Given the description of an element on the screen output the (x, y) to click on. 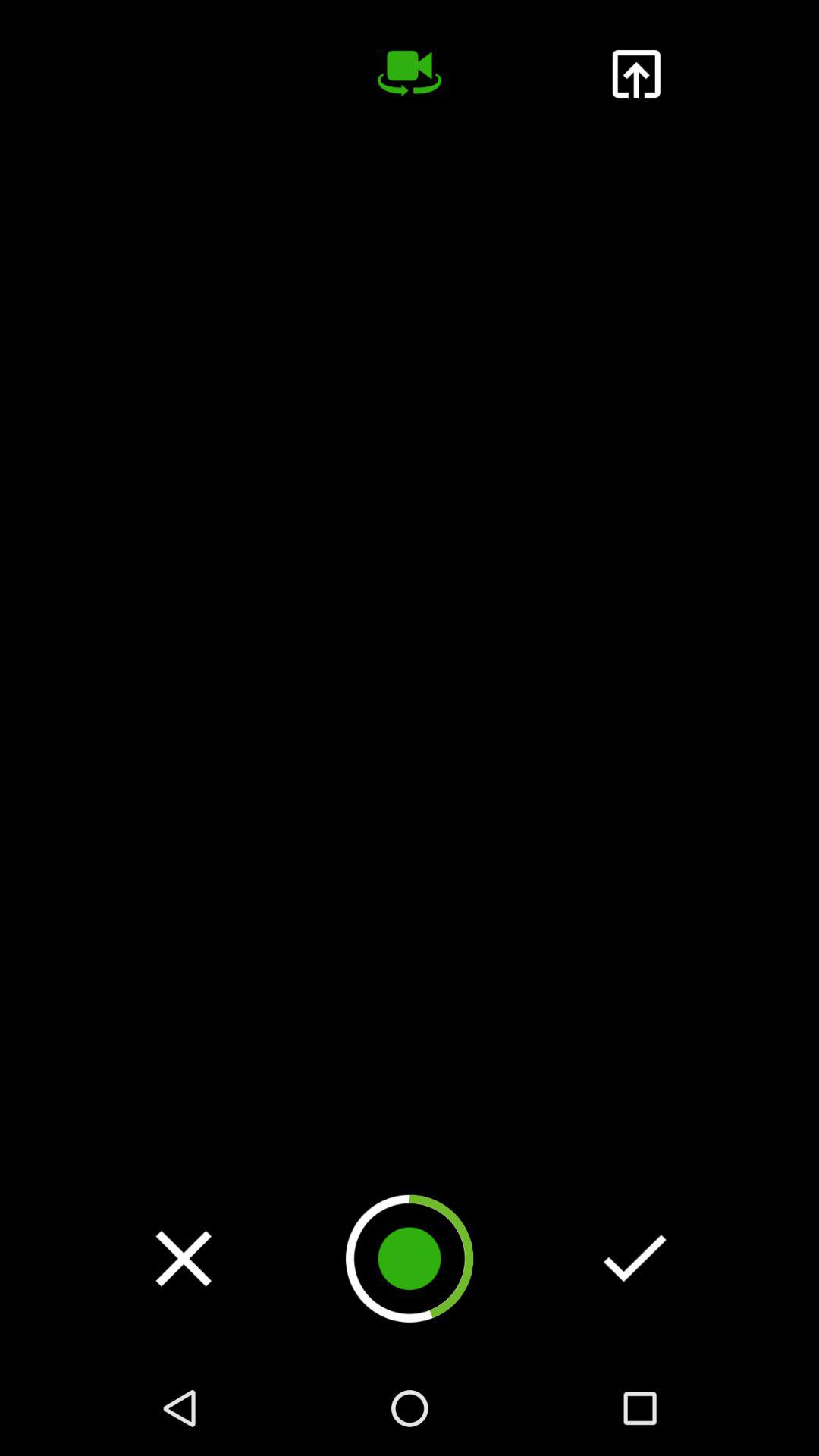
rotate camera (409, 73)
